Given the description of an element on the screen output the (x, y) to click on. 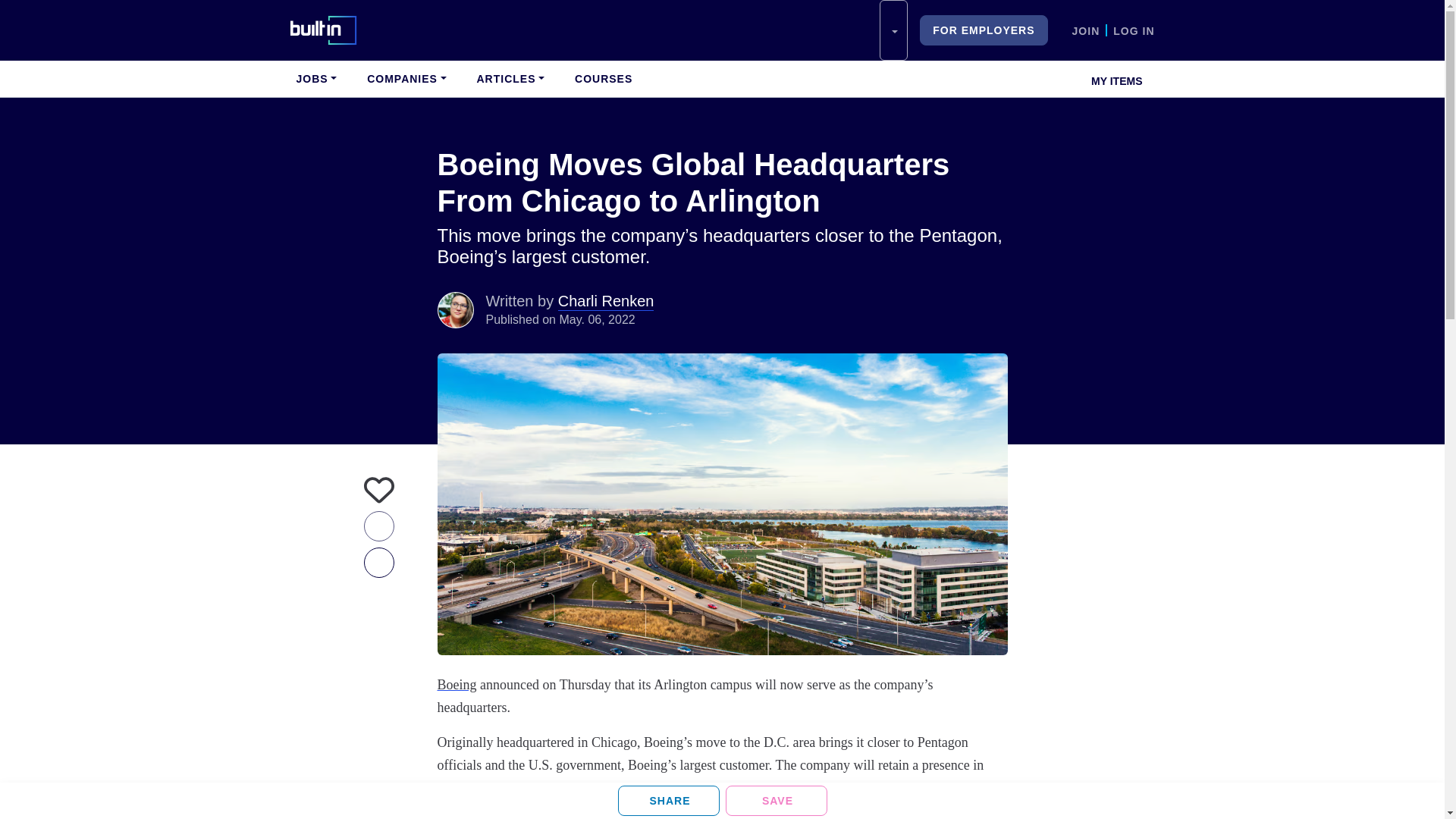
Share on LinkedIn (668, 800)
JOBS (315, 78)
LOG IN (1133, 30)
ARTICLES (510, 78)
JOIN (1085, 30)
Charli Renken (455, 309)
FOR EMPLOYERS (983, 30)
COMPANIES (406, 78)
